Given the description of an element on the screen output the (x, y) to click on. 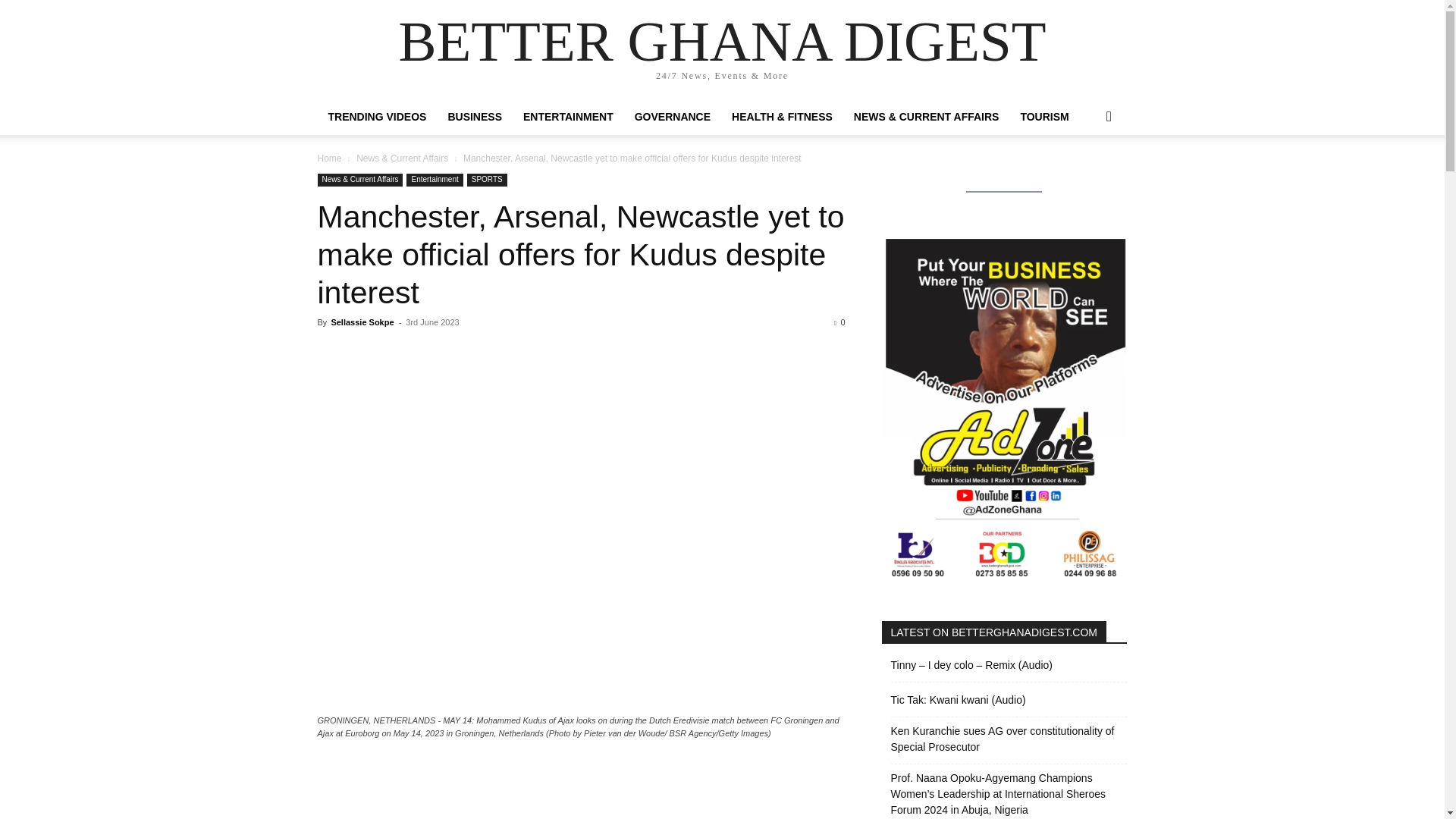
ENTERTAINMENT (568, 116)
BETTER GHANA DIGEST (721, 41)
BUSINESS (474, 116)
GOVERNANCE (672, 116)
TRENDING VIDEOS (376, 116)
